Given the description of an element on the screen output the (x, y) to click on. 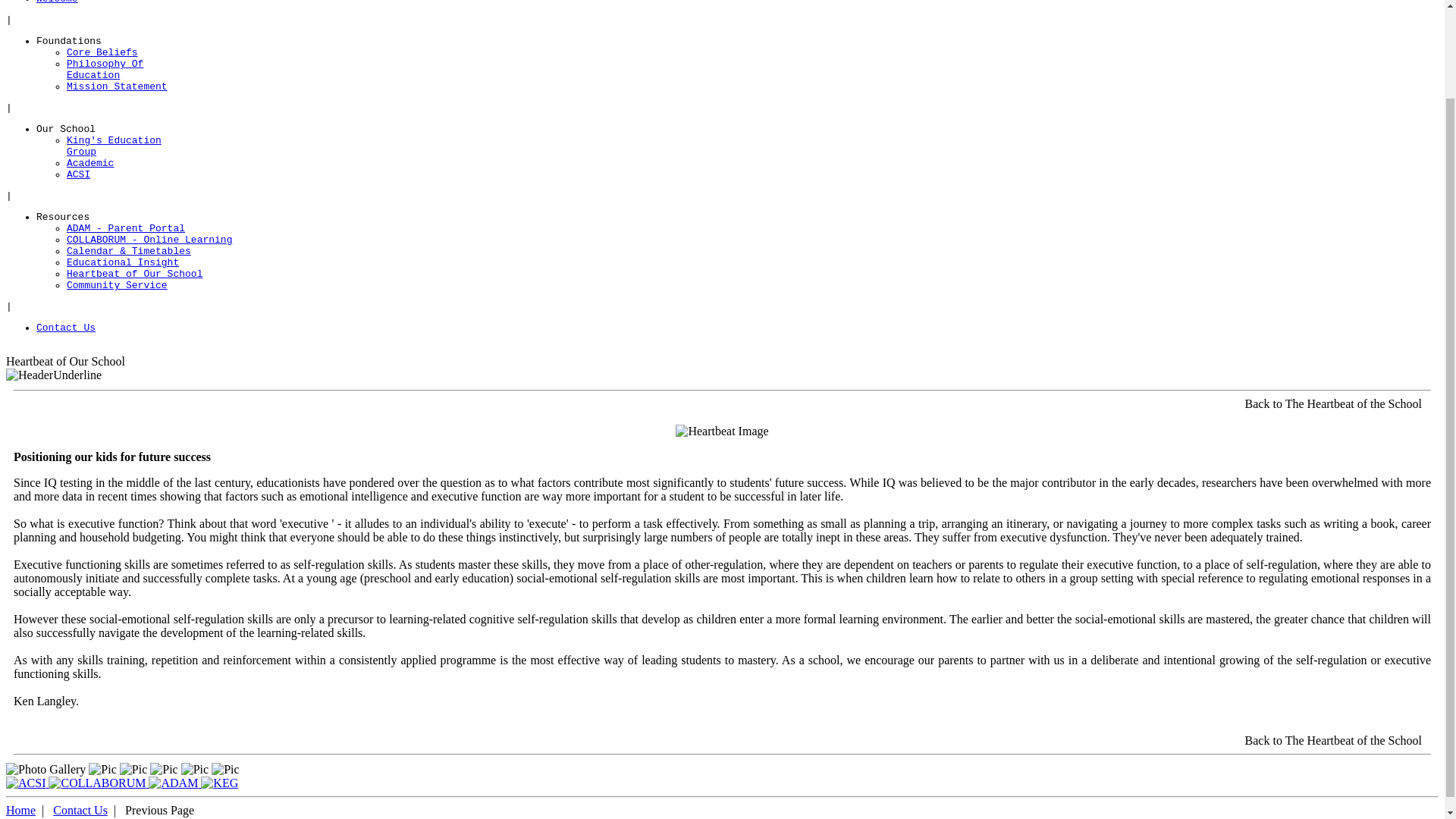
Association of Christian Schools International (25, 783)
Back to The Heartbeat of the School (1333, 403)
Mission Statement (116, 86)
Home (19, 809)
COLLABORUM - Online Learning (148, 239)
Philosophy Of Education (104, 69)
ADAM (173, 783)
Heartbeat of Our School (134, 274)
ACSI (78, 174)
Educational Insight (122, 262)
Community Service (116, 285)
Core Beliefs (102, 52)
COLLABORUM (96, 783)
King's Education Group (219, 783)
ADAM - Parent Portal (125, 228)
